Given the description of an element on the screen output the (x, y) to click on. 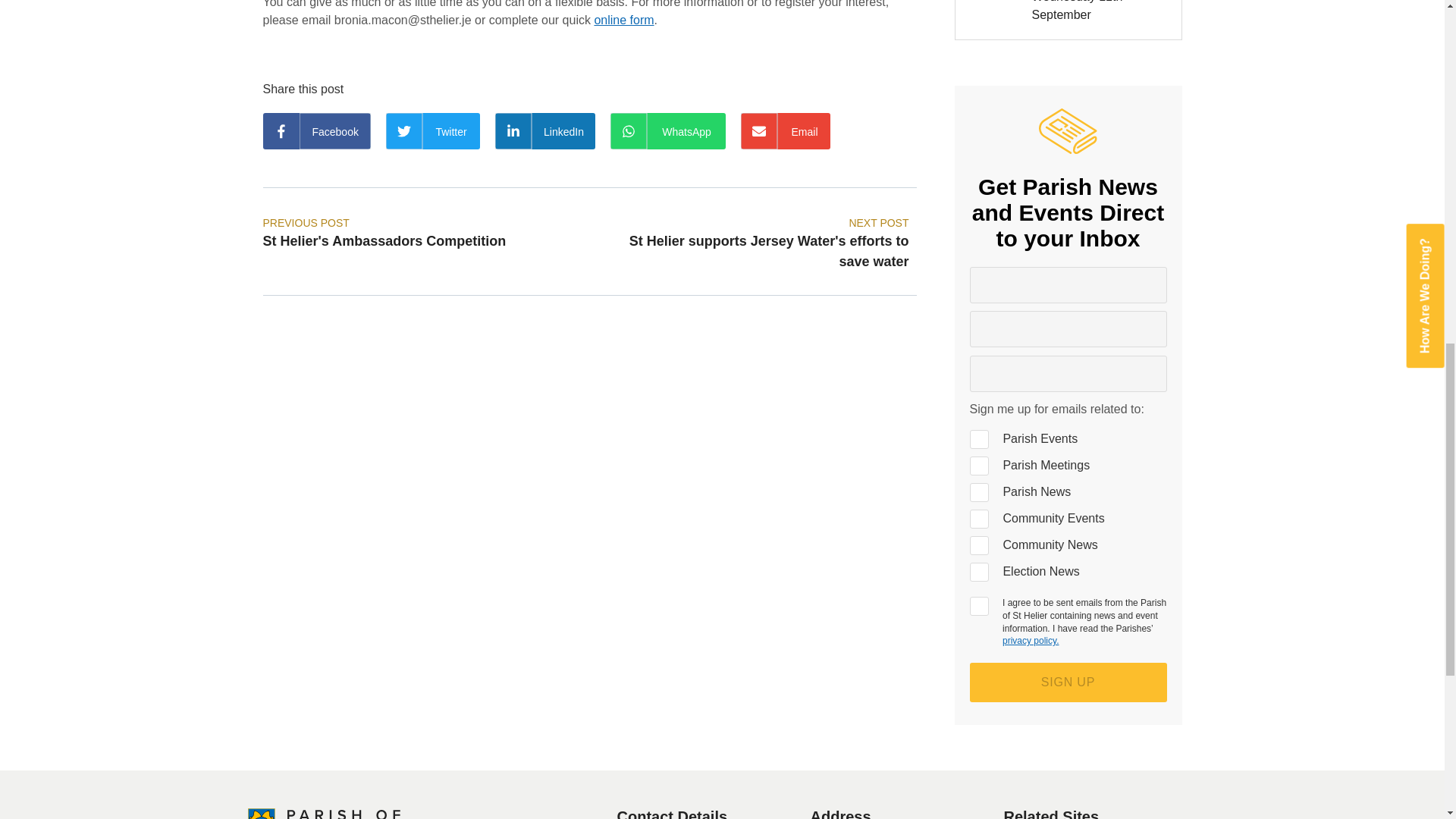
Last name (1067, 330)
Twitter (432, 131)
SIGN UP (1067, 681)
Email Address (1067, 373)
7 (978, 492)
10 (978, 465)
Facebook (315, 131)
WhatsApp (667, 131)
9 (978, 545)
LinkedIn (544, 131)
